Given the description of an element on the screen output the (x, y) to click on. 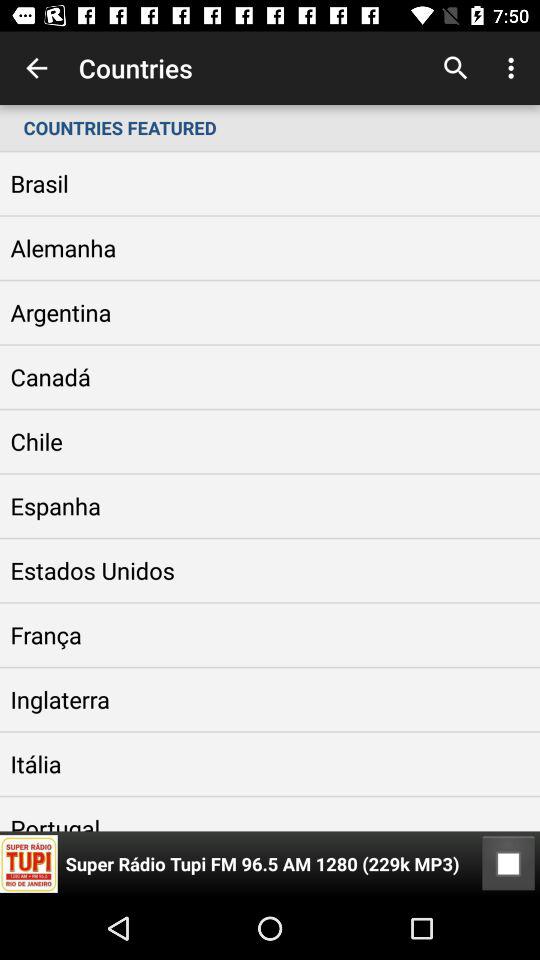
turn off icon below the countries featured (508, 863)
